Given the description of an element on the screen output the (x, y) to click on. 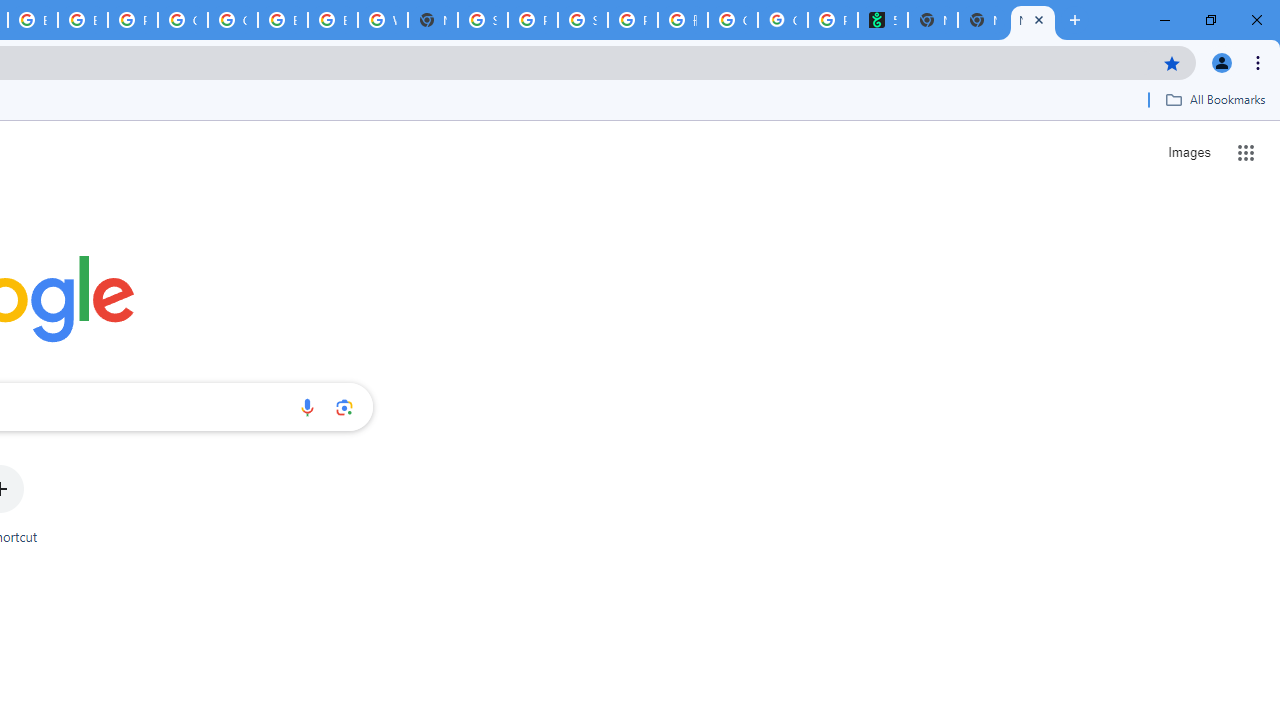
Browse Chrome as a guest - Computer - Google Chrome Help (82, 20)
Google Cloud Platform (232, 20)
Sign in - Google Accounts (483, 20)
New Tab (433, 20)
New Tab (982, 20)
Search by voice (307, 407)
Google Cloud Platform (182, 20)
